Given the description of an element on the screen output the (x, y) to click on. 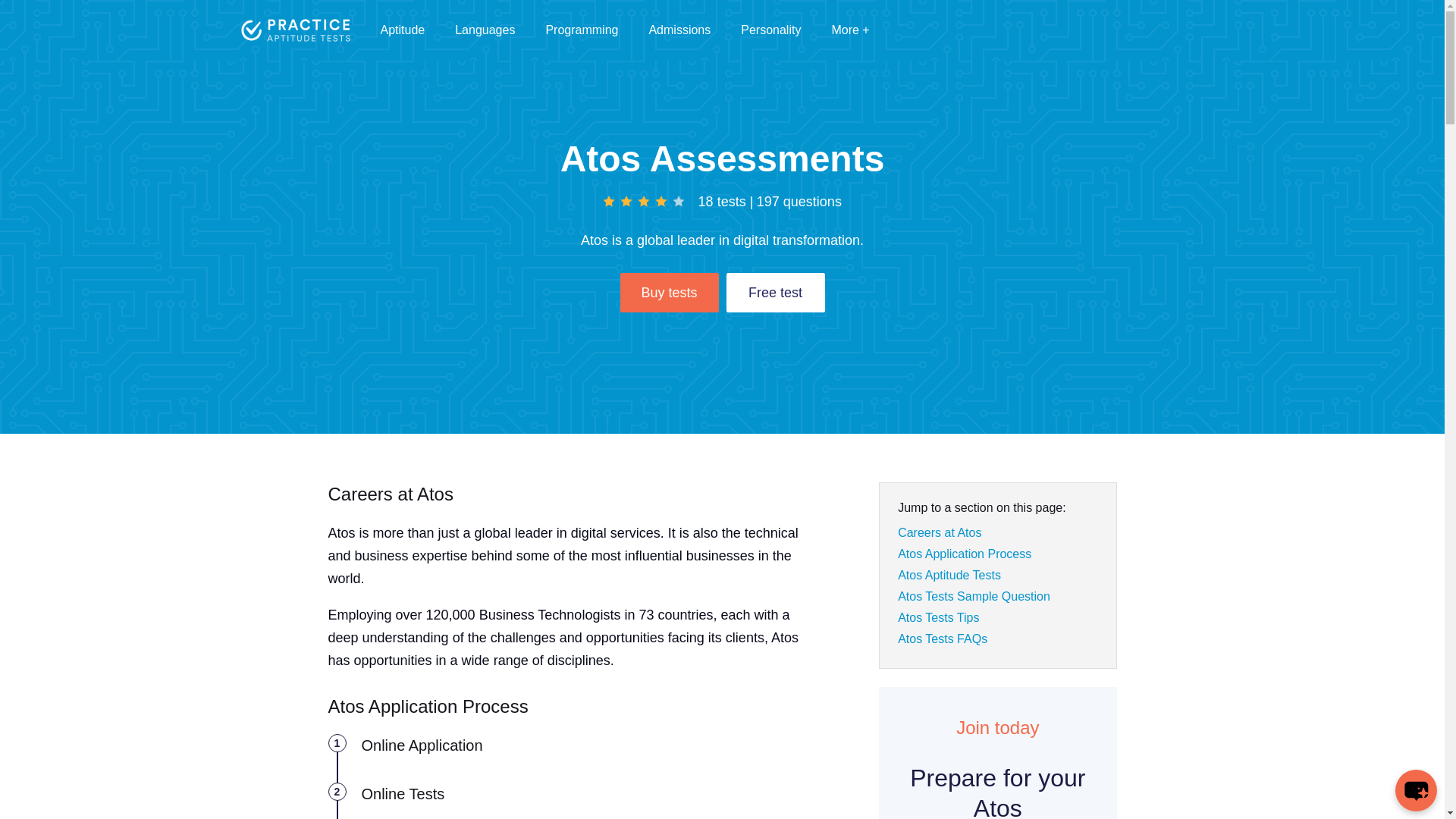
Languages (484, 29)
Free test (775, 292)
Personality (770, 29)
Programming (580, 29)
Buy tests (669, 292)
Aptitude (402, 29)
Admissions (678, 29)
